Given the description of an element on the screen output the (x, y) to click on. 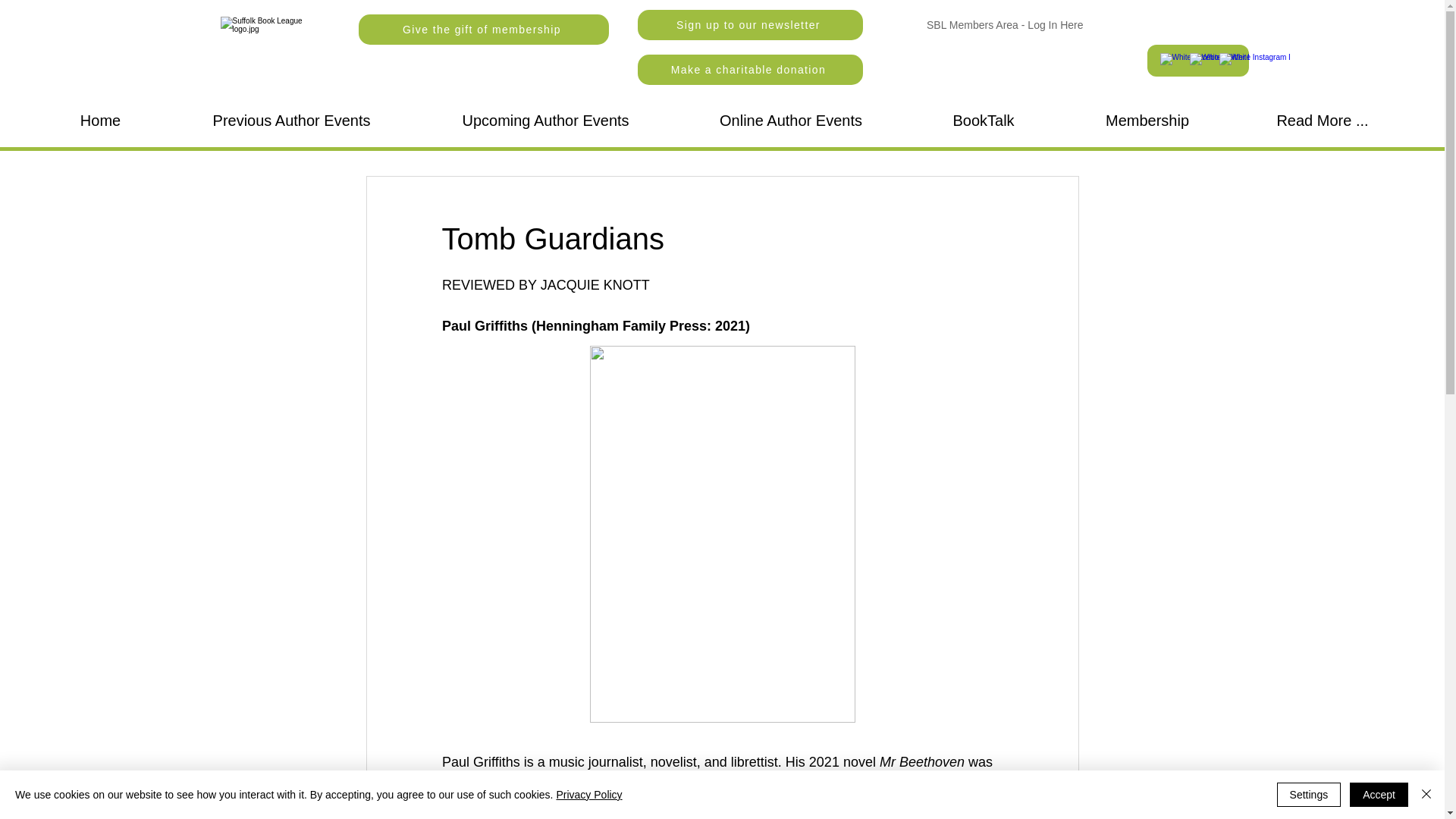
Suffolk Book League logo.jpg (271, 51)
Make a charitable donation (749, 69)
SBL Members Area - Log In Here (1004, 25)
Previous Author Events (291, 121)
Settings (1308, 794)
Online Author Events (791, 121)
BookTalk (983, 121)
Home (100, 121)
Privacy Policy (588, 794)
Sign up to our newsletter (749, 24)
